Given the description of an element on the screen output the (x, y) to click on. 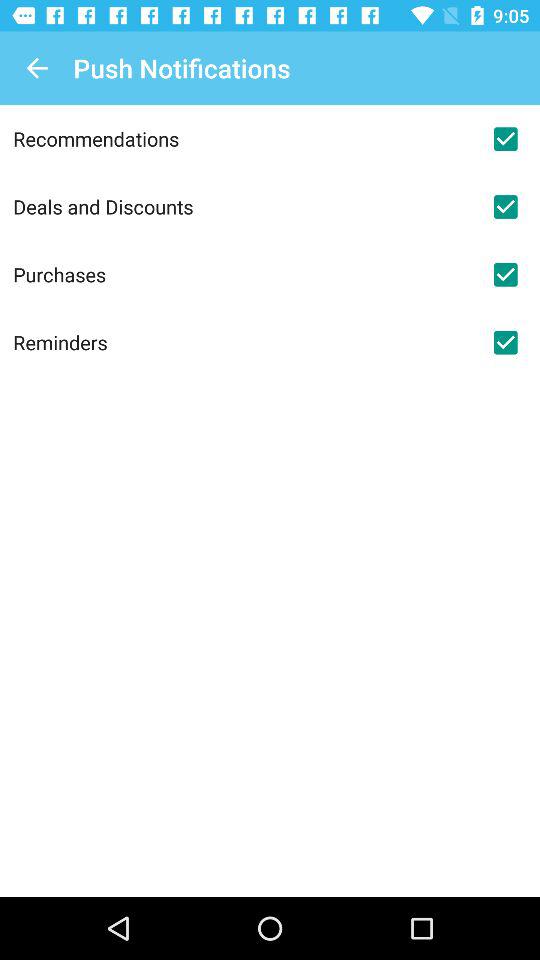
toggle reminders option (505, 342)
